Given the description of an element on the screen output the (x, y) to click on. 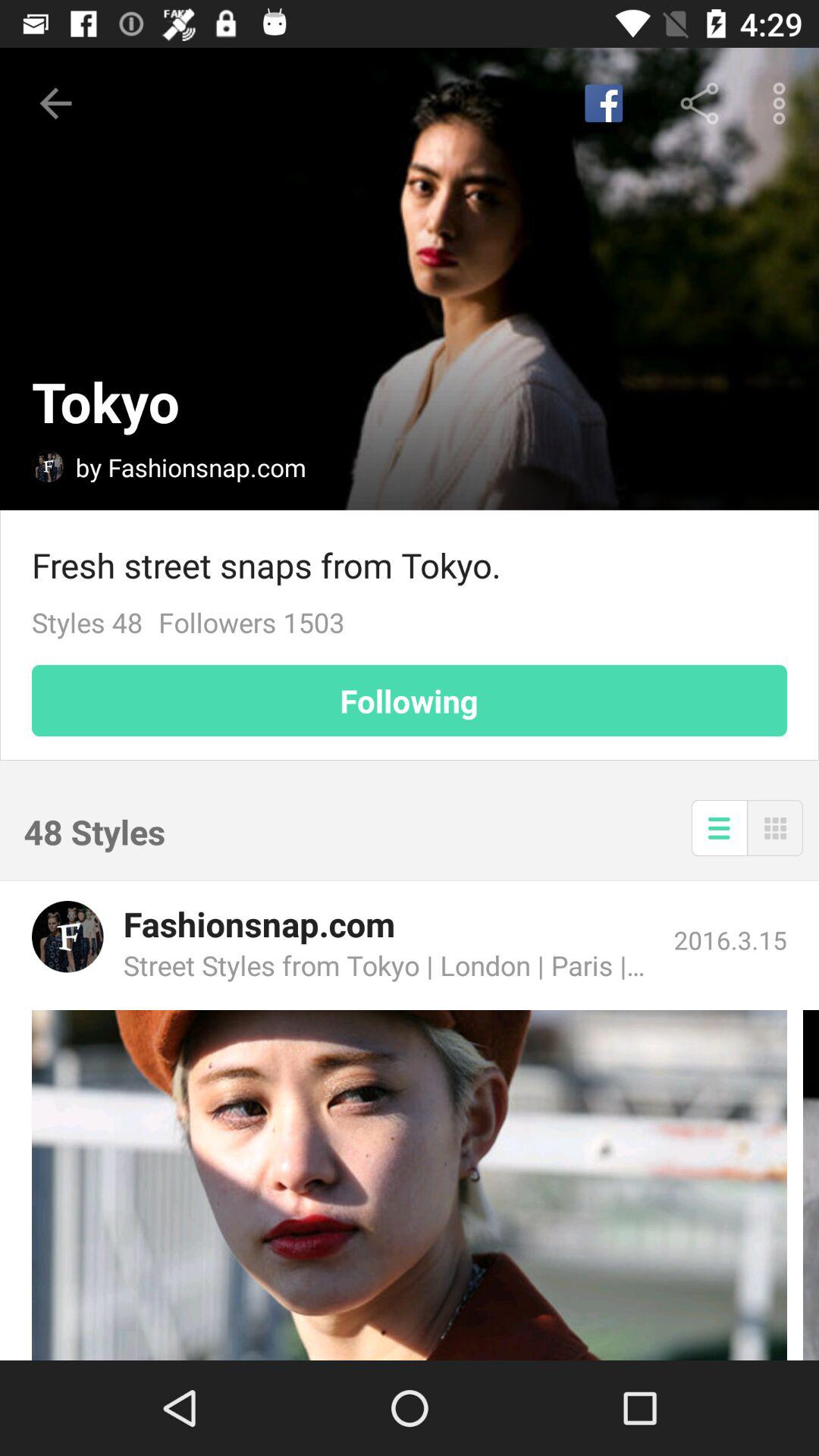
tap the following (409, 700)
